Given the description of an element on the screen output the (x, y) to click on. 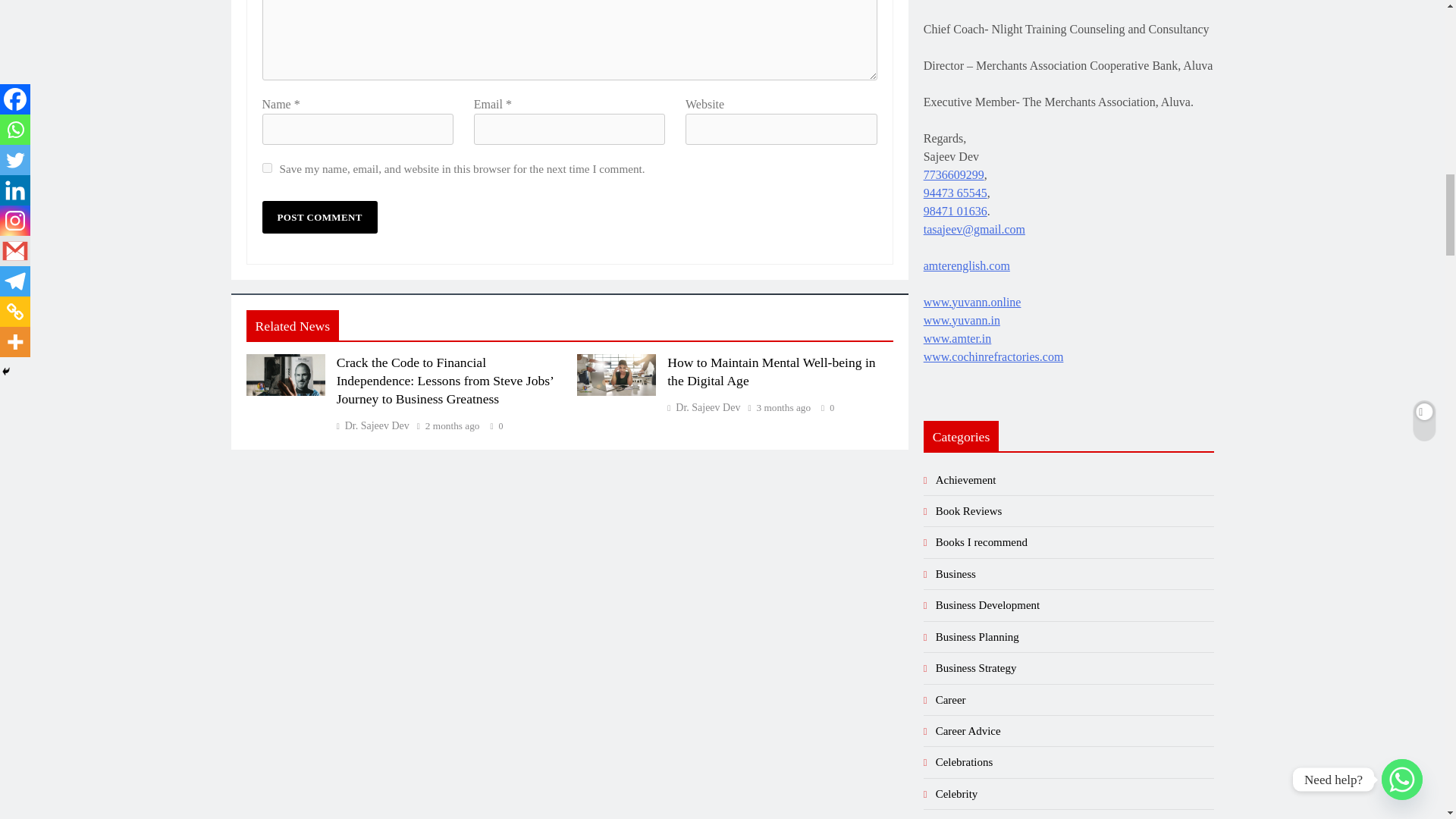
Post Comment (319, 216)
yes (267, 167)
